Given the description of an element on the screen output the (x, y) to click on. 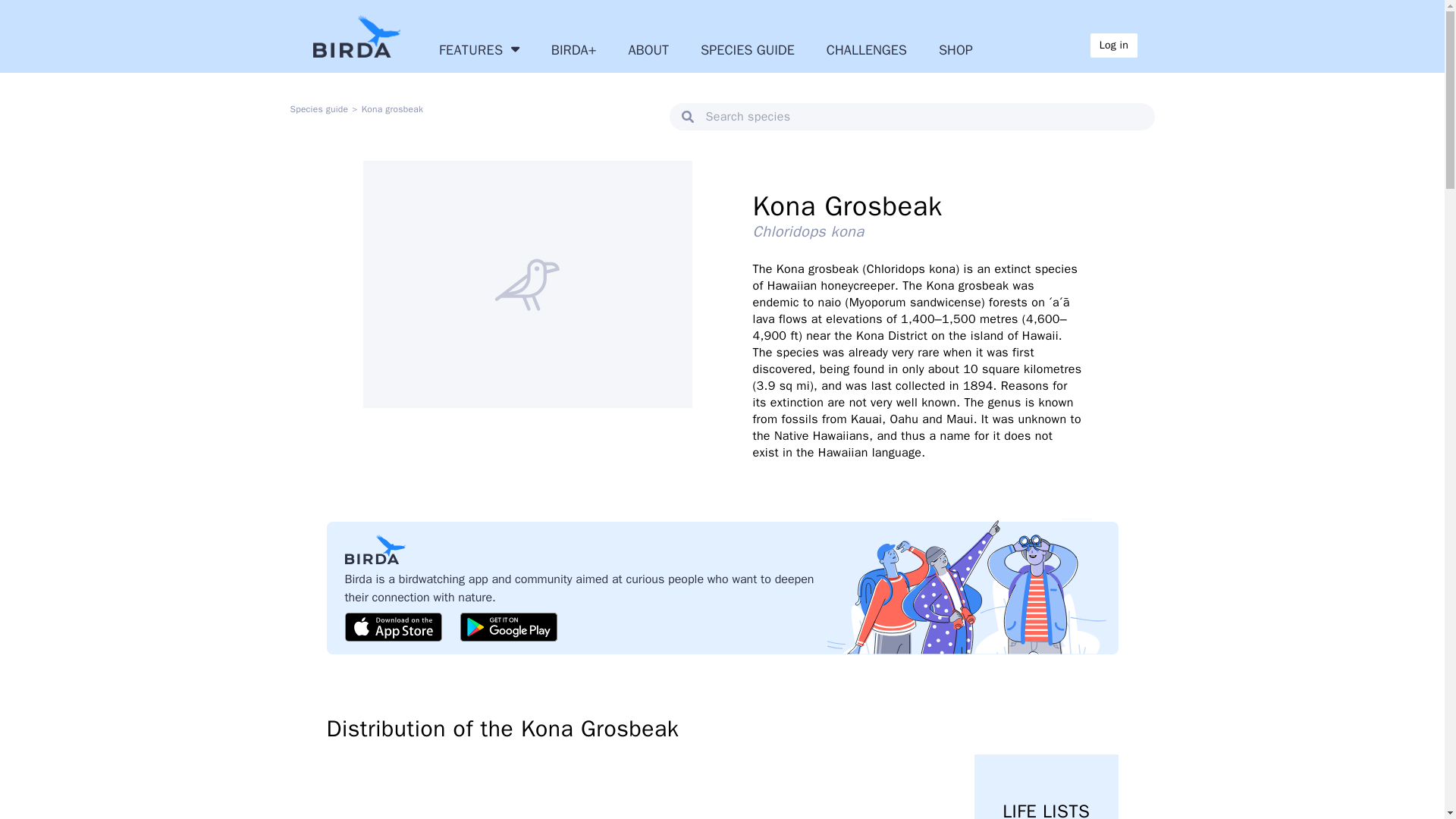
Log in (1113, 45)
Kona grosbeak (392, 109)
FEATURES (1046, 786)
SPECIES GUIDE (479, 49)
CHALLENGES (747, 49)
ABOUT (867, 49)
SHOP (647, 49)
Species guide (955, 49)
